Given the description of an element on the screen output the (x, y) to click on. 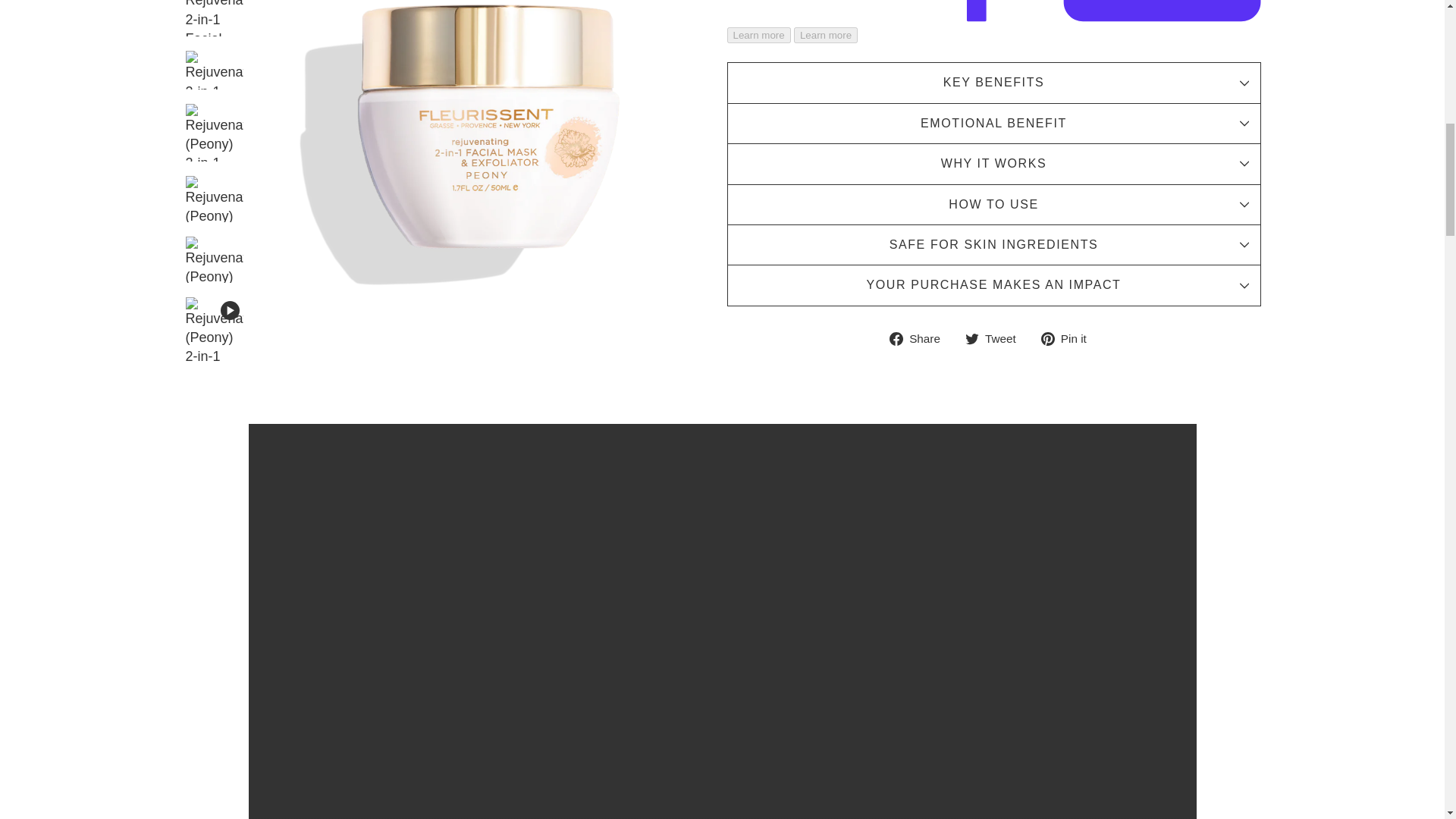
Share on Facebook (920, 338)
Tweet on Twitter (996, 338)
Pin on Pinterest (1069, 338)
